Given the description of an element on the screen output the (x, y) to click on. 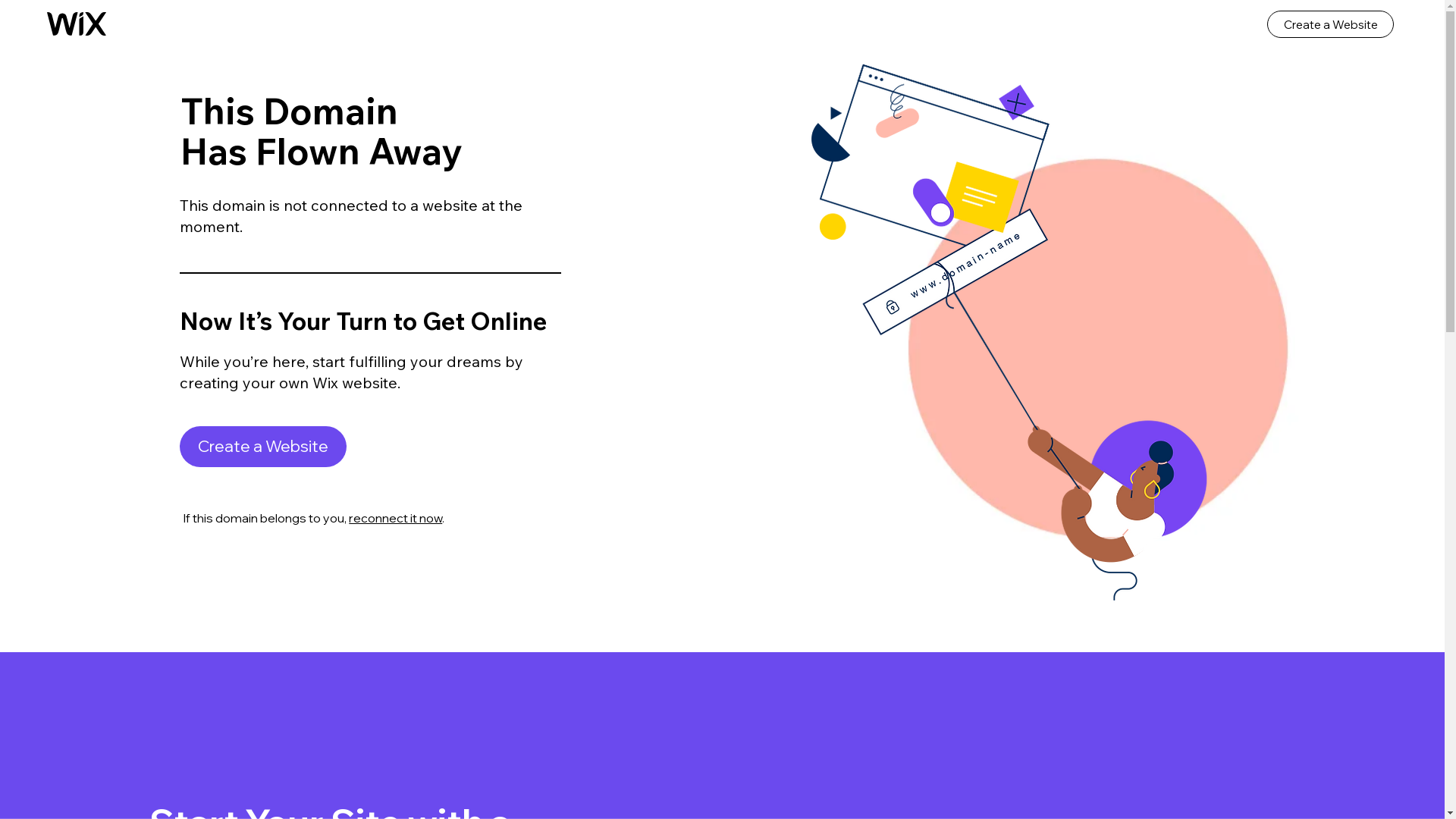
reconnect it now Element type: text (395, 517)
Create a Website Element type: text (262, 446)
Create a Website Element type: text (1330, 23)
